Given the description of an element on the screen output the (x, y) to click on. 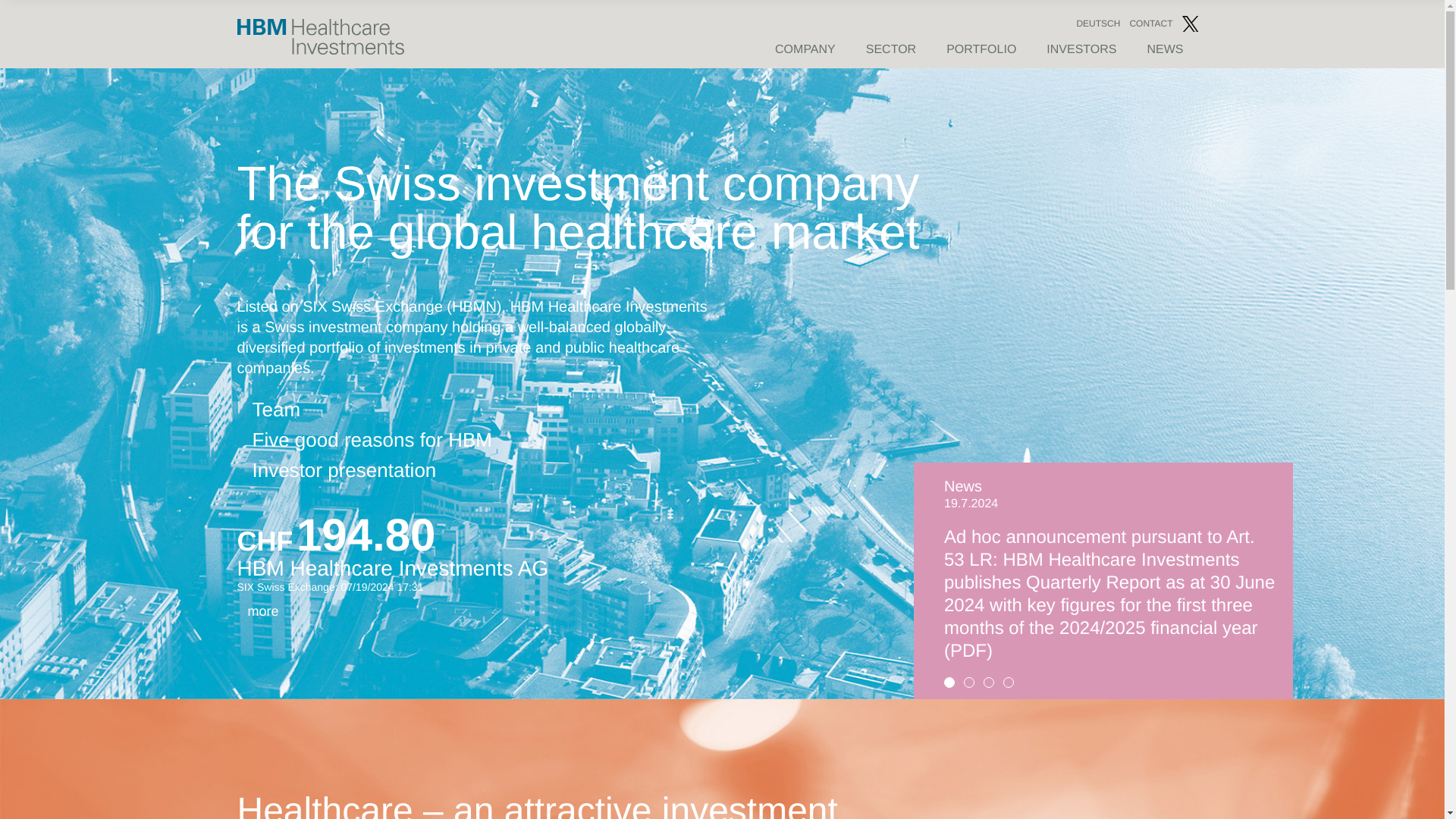
INVESTORS (1080, 49)
Home (319, 51)
TWITTER (1189, 23)
SECTOR (890, 49)
NEWS (1164, 49)
PORTFOLIO (980, 49)
CONTACT (1150, 23)
COMPANY (805, 49)
DEUTSCH (1097, 23)
